Given the description of an element on the screen output the (x, y) to click on. 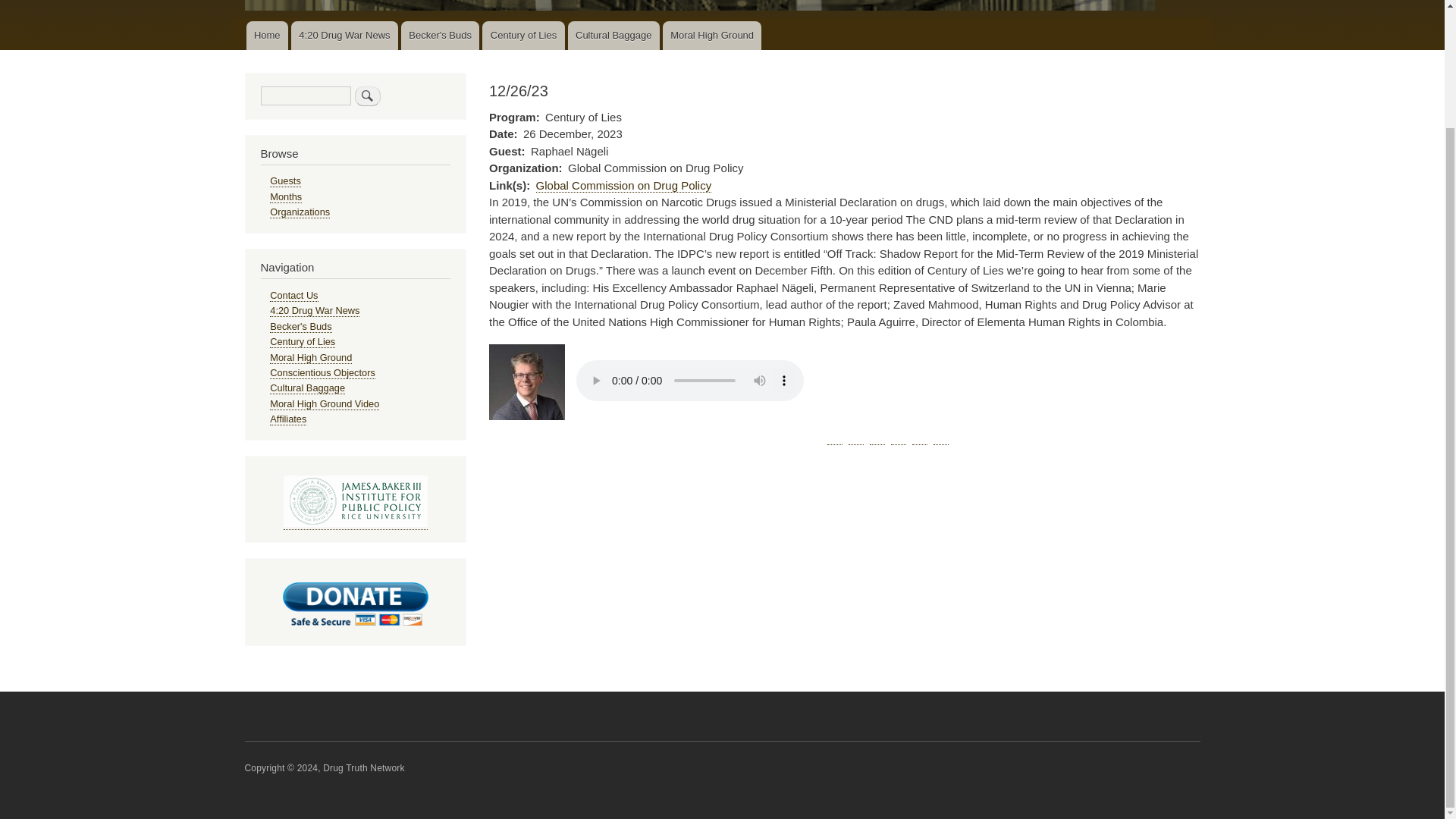
Share to Facebook (835, 437)
Contact the Drug Truth Network (293, 295)
Cultural Baggage (613, 35)
Moral High Ground (310, 357)
Home (266, 35)
Conscientious Objectors (322, 372)
Browse and search programs by guest organization (299, 212)
4:20 Drug War News (344, 35)
Swiss Ambassador (526, 381)
Search (367, 96)
Organizations (299, 212)
Enter the terms you wish to search for. (305, 95)
Century of Lies (301, 341)
Century of Lies (301, 341)
4:20 Drug War News (314, 310)
